Given the description of an element on the screen output the (x, y) to click on. 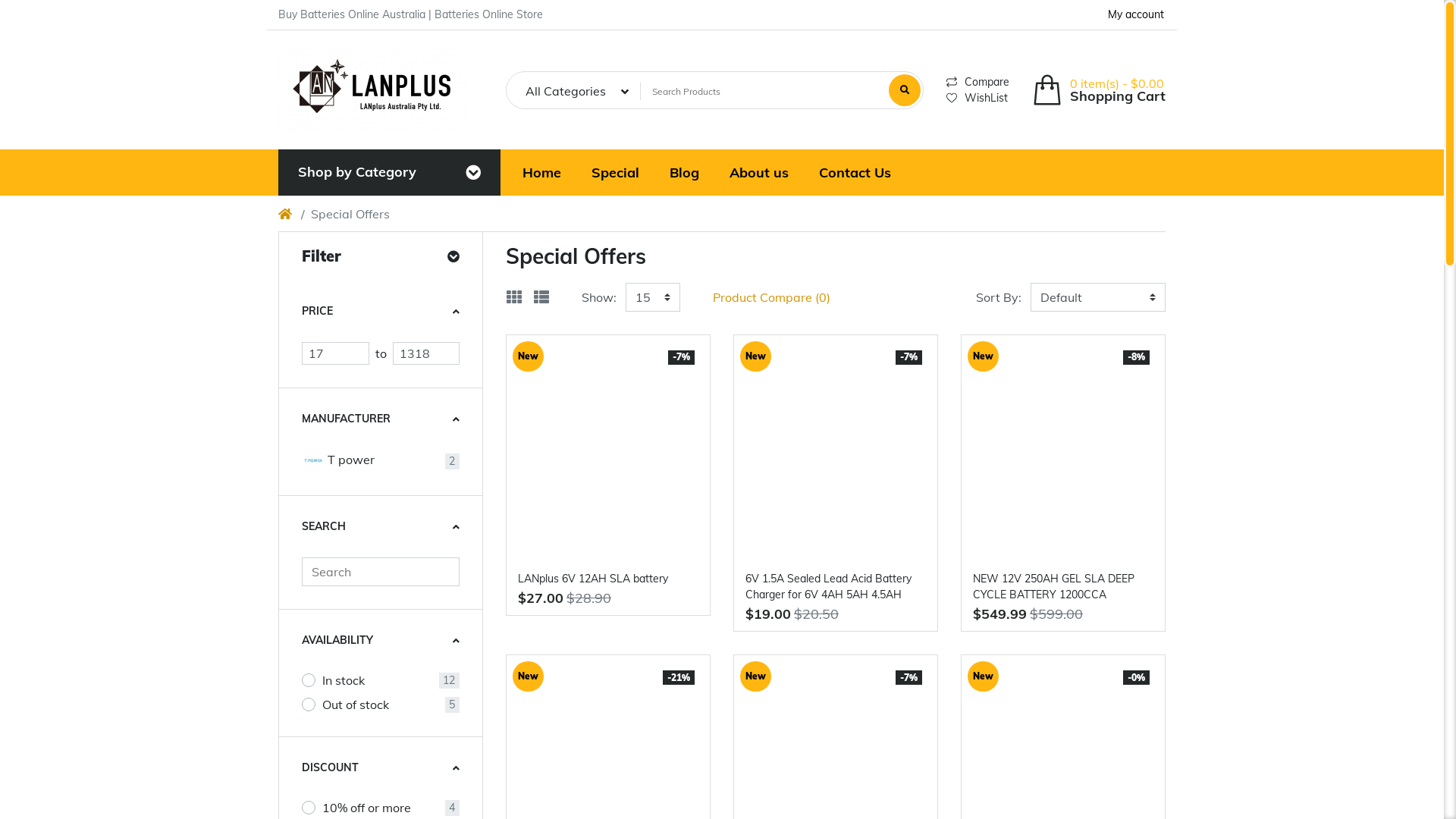
Compare this Product Element type: hover (657, 640)
Add to Cart Element type: hover (786, 640)
Contact Us Element type: text (854, 172)
Add to Cart Element type: hover (786, 320)
Compare this Product Element type: hover (884, 320)
Home Element type: text (542, 172)
Compare this Product Element type: hover (884, 640)
About us Element type: text (758, 172)
My account Element type: text (1135, 14)
Quick view Element type: hover (1079, 640)
Add to Wish List Element type: hover (819, 640)
Quick view Element type: hover (624, 640)
Compare this Product Element type: hover (1112, 640)
Product Compare (0) Element type: text (771, 296)
LANplus 6V 12AH SLA battery  Element type: hover (607, 448)
Add to Cart Element type: hover (1014, 320)
Poco theme Element type: hover (372, 89)
Grid Element type: hover (513, 297)
Compare Element type: hover (951, 81)
All Categories Element type: text (577, 90)
Shopping Cart
0 item(s) - $0.00 Element type: text (1098, 89)
Shop by Category Element type: text (357, 172)
Compare this Product Element type: hover (1112, 320)
Compare Element type: text (977, 82)
Add to Wish List Element type: hover (592, 320)
Add to Cart Element type: hover (559, 320)
Quick view Element type: hover (1079, 320)
Quick view Element type: hover (852, 640)
WishList Element type: text (977, 97)
Add to Wish List Element type: hover (592, 640)
LANplus 6V 12AH SLA battery Element type: text (607, 578)
Add to Wish List Element type: hover (1047, 320)
Add to Wish List Element type: hover (819, 320)
List Element type: hover (541, 297)
Add to Wish List Element type: hover (1047, 640)
Compare this Product Element type: hover (657, 320)
Special Element type: text (615, 172)
Blog Element type: text (684, 172)
Add to Cart Element type: hover (559, 640)
Quick view Element type: hover (852, 320)
Add to Cart Element type: hover (1014, 640)
Quick view Element type: hover (624, 320)
WishList Element type: hover (951, 97)
